Given the description of an element on the screen output the (x, y) to click on. 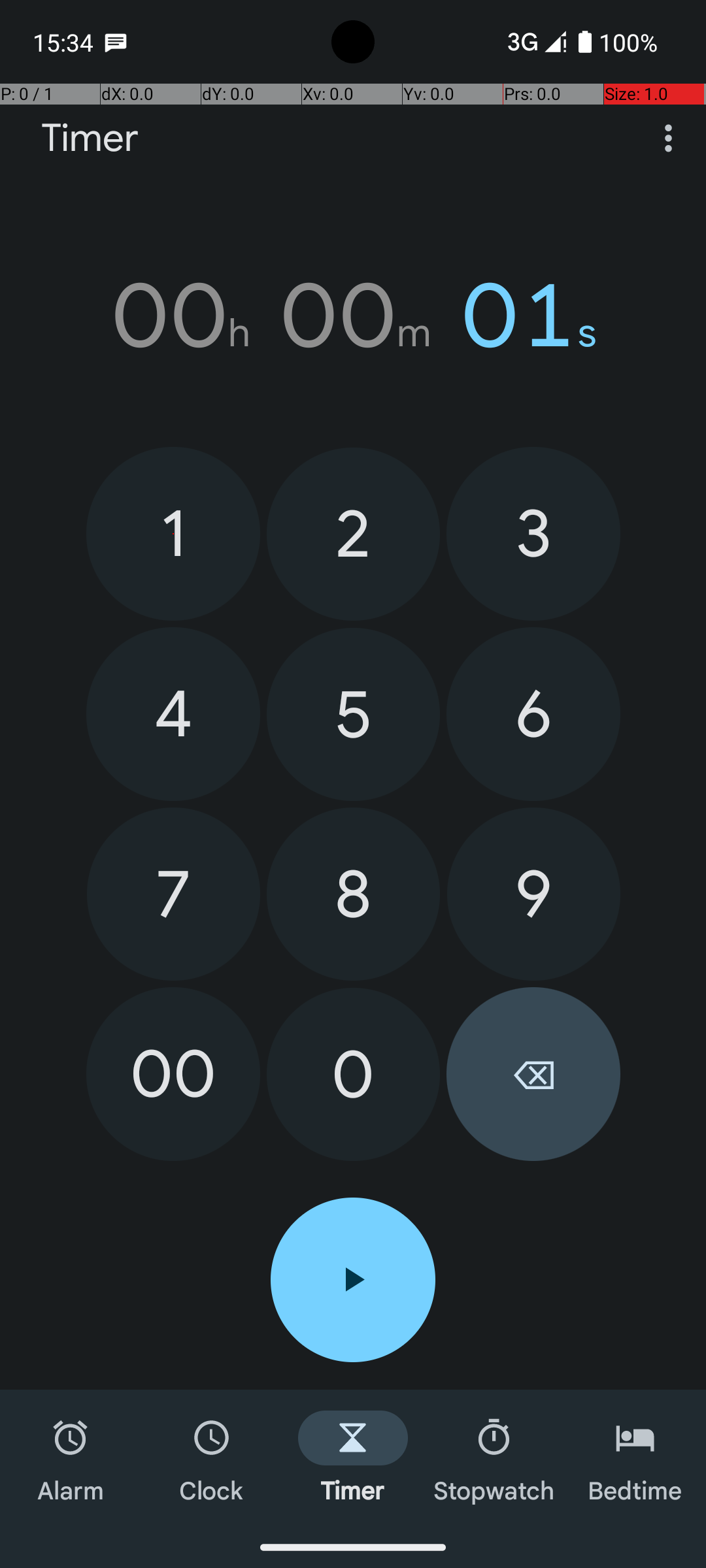
00h 00m 01s Element type: android.widget.TextView (353, 315)
⌫ Element type: android.widget.Button (533, 1073)
SMS Messenger notification: Matteo Ibrahim Element type: android.widget.ImageView (115, 41)
